Given the description of an element on the screen output the (x, y) to click on. 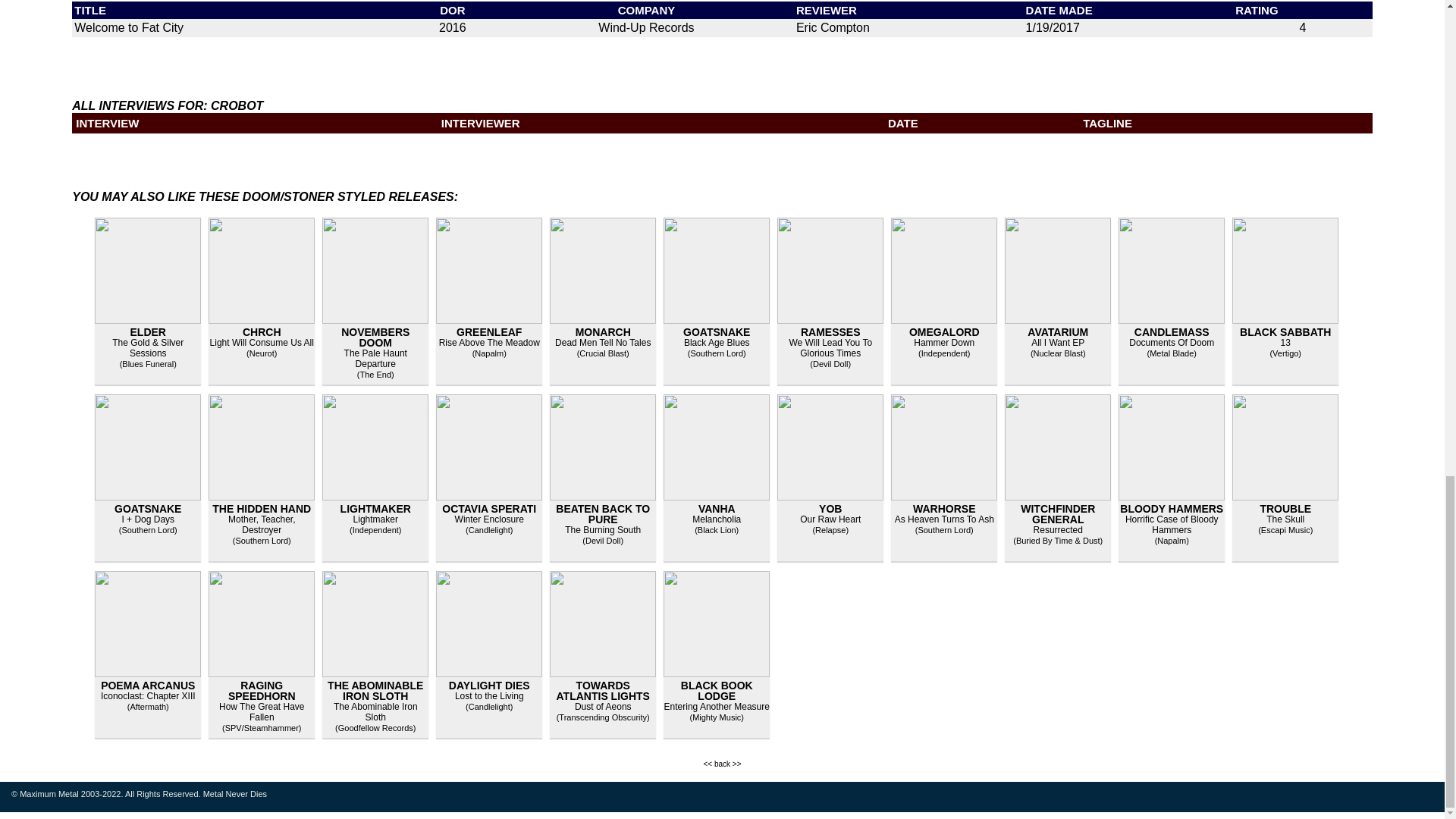
Hammer Down (944, 342)
NOVEMBERS DOOM (374, 336)
Black Age Blues (716, 342)
GOATSNAKE (715, 331)
Rise Above The Meadow (489, 342)
RAMESSES (830, 331)
All I Want EP (1057, 342)
GREENLEAF (489, 331)
ELDER (148, 331)
Welcome to Fat City (128, 27)
The Pale Haunt Departure (375, 358)
CANDLEMASS (1171, 331)
Light Will Consume Us All (261, 342)
AVATARIUM (1057, 331)
OMEGALORD (943, 331)
